Given the description of an element on the screen output the (x, y) to click on. 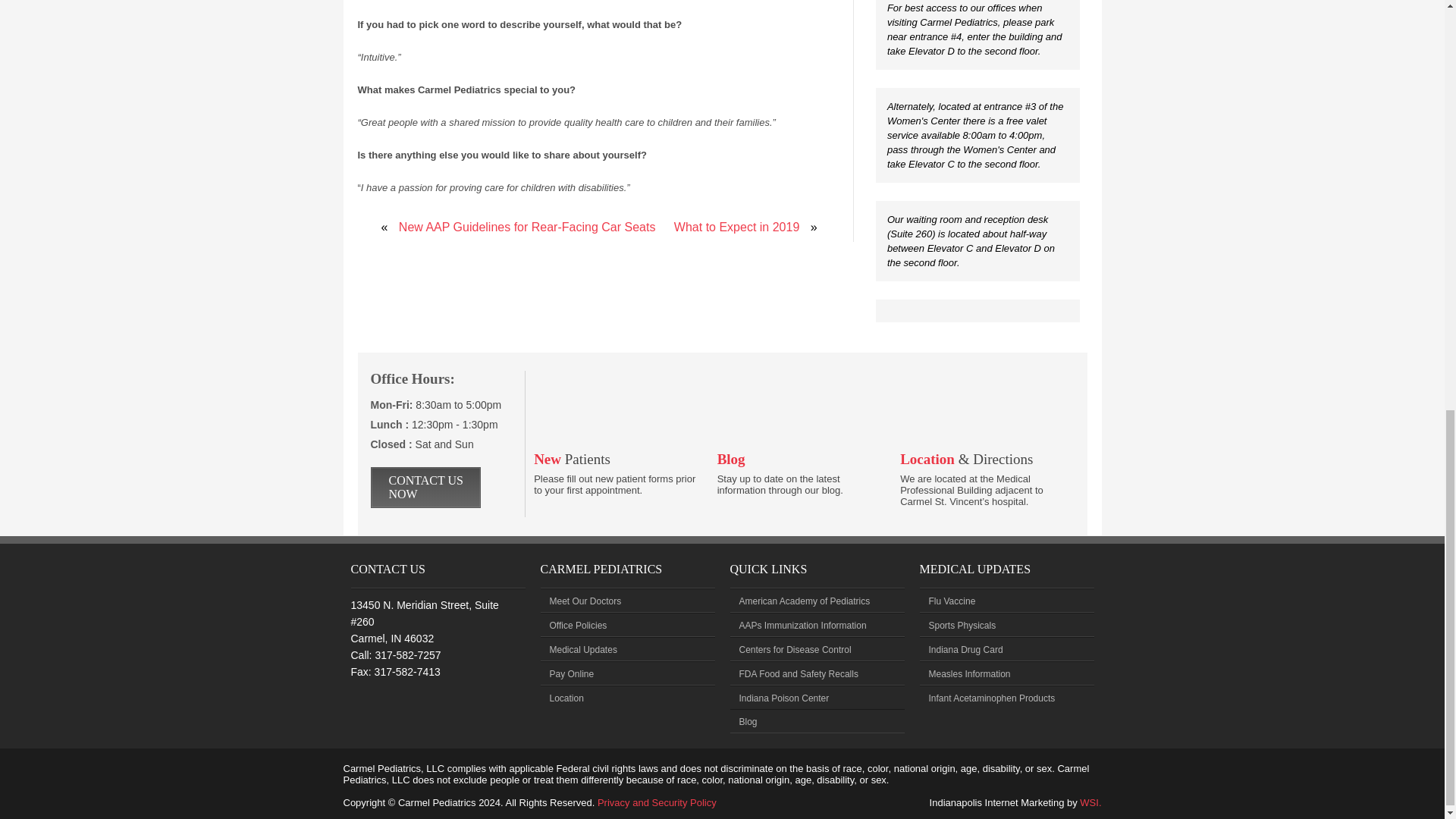
What to Expect in 2019 (736, 226)
New AAP Guidelines for Rear-Facing Car Seats (527, 226)
